Given the description of an element on the screen output the (x, y) to click on. 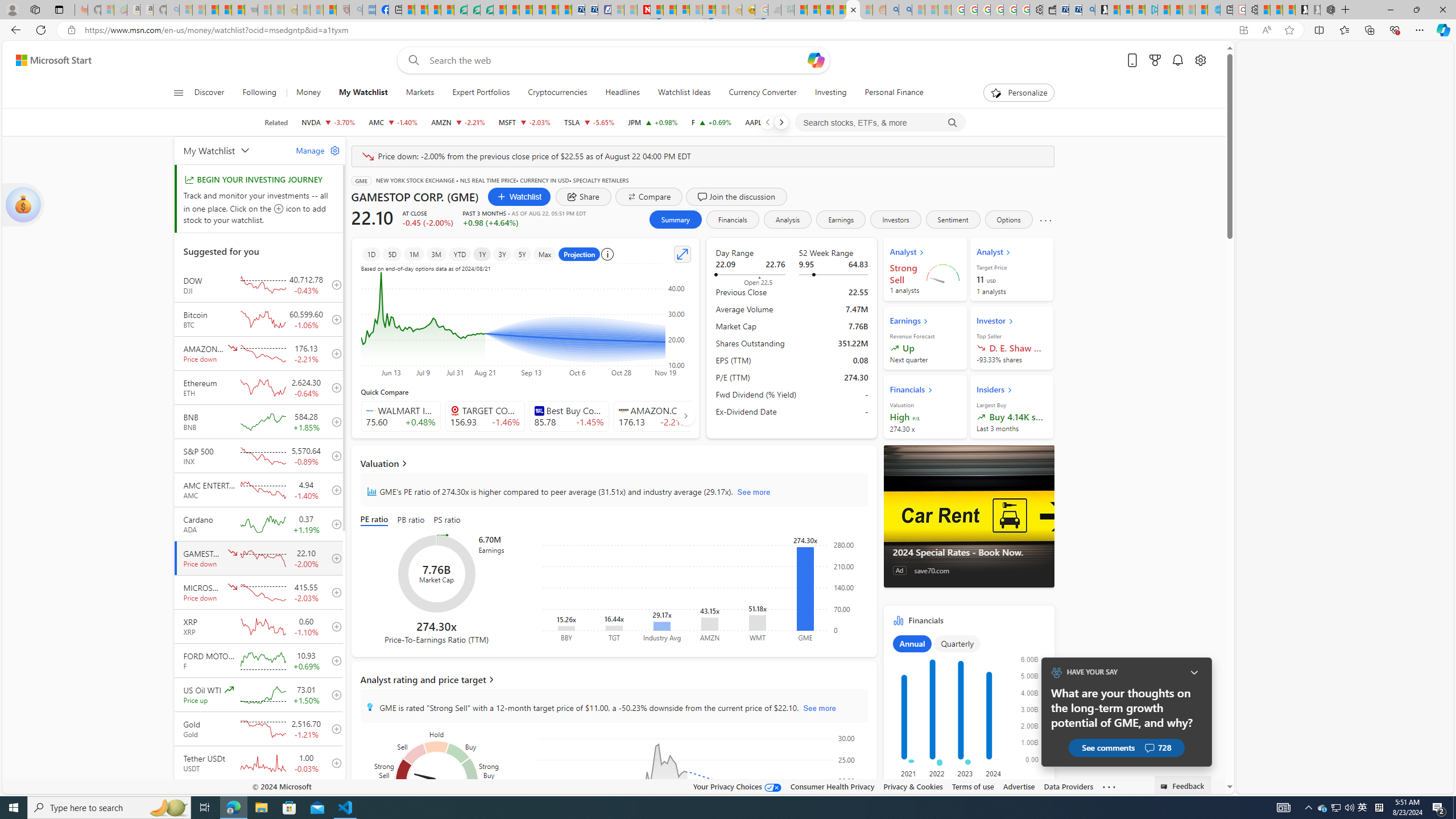
JPM JPMORGAN CHASE & CO. increase 216.71 +2.11 +0.98% (652, 122)
AAPL APPLE INC. decrease 224.53 -1.87 -0.83% (770, 122)
Currency Converter (762, 92)
Markets (419, 92)
3Y (502, 254)
Your Privacy Choices (737, 786)
